Given the description of an element on the screen output the (x, y) to click on. 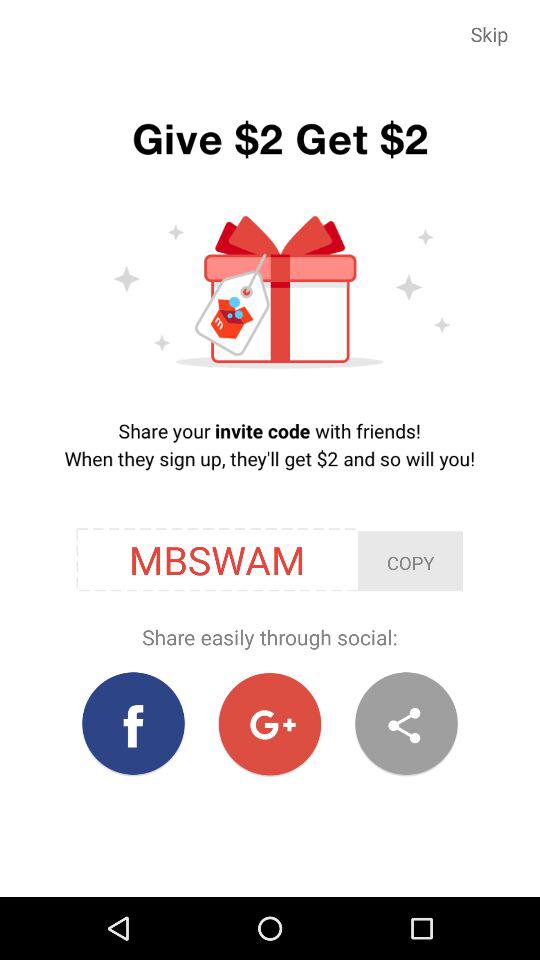
launch the item next to the mbswam item (410, 561)
